Given the description of an element on the screen output the (x, y) to click on. 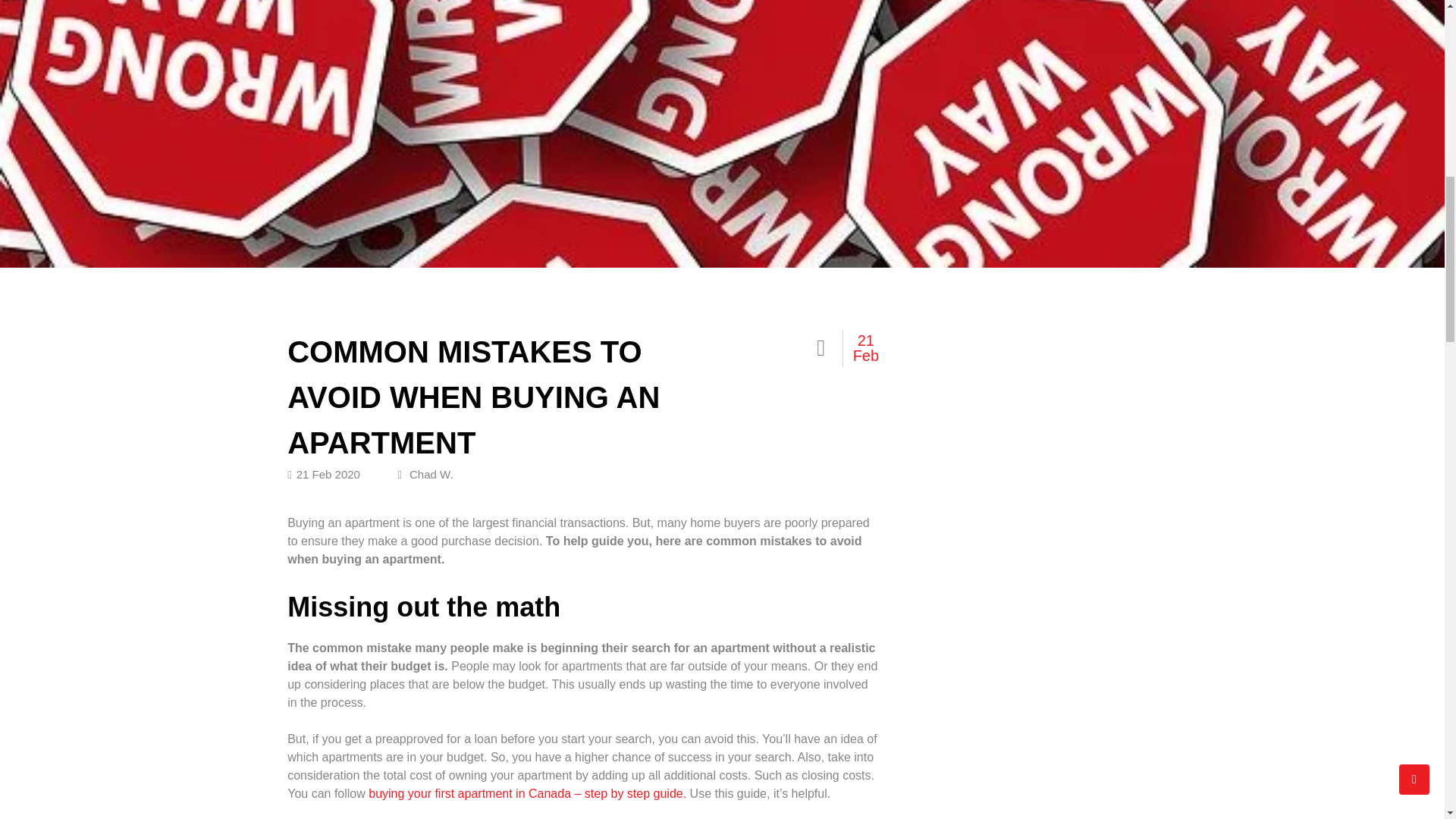
Chad W. (424, 473)
21 Feb 2020 (322, 473)
